Given the description of an element on the screen output the (x, y) to click on. 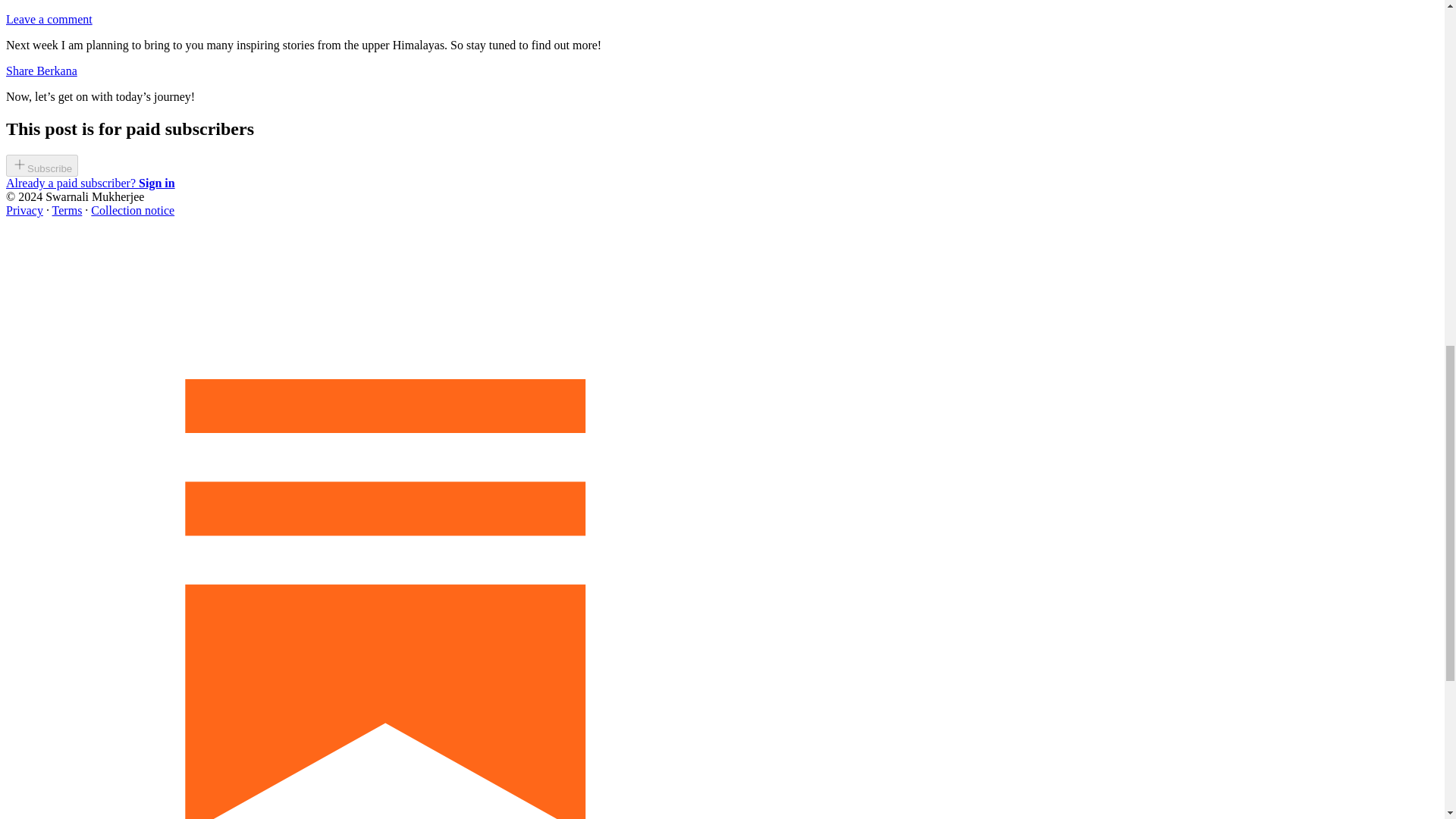
Leave a comment (49, 19)
Subscribe (41, 167)
Terms (67, 210)
Collection notice (132, 210)
Privacy (24, 210)
Subscribe (41, 165)
Already a paid subscriber? Sign in (89, 182)
Share Berkana (41, 70)
